Given the description of an element on the screen output the (x, y) to click on. 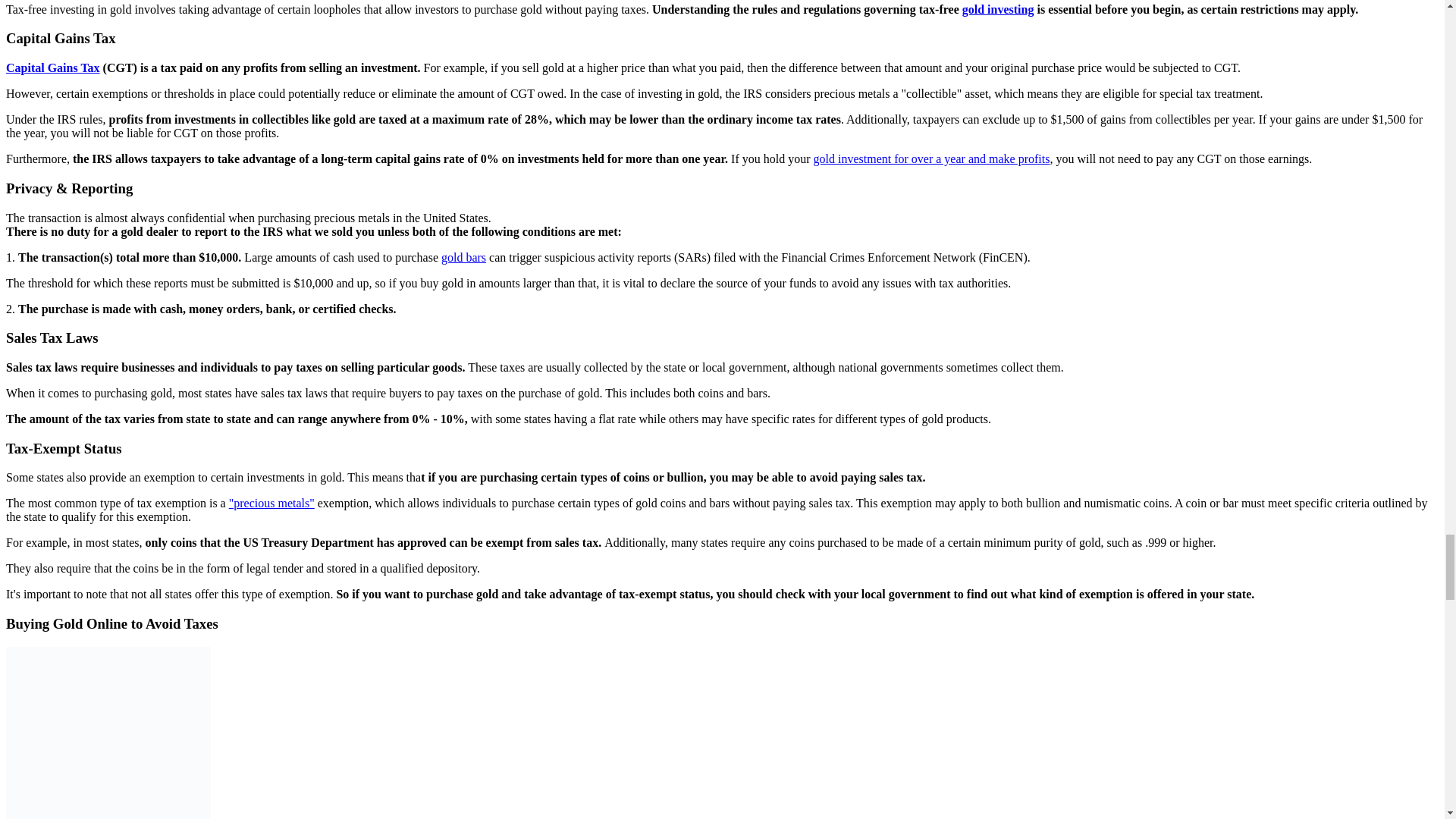
Investing In Gold Tax Free (108, 733)
